Given the description of an element on the screen output the (x, y) to click on. 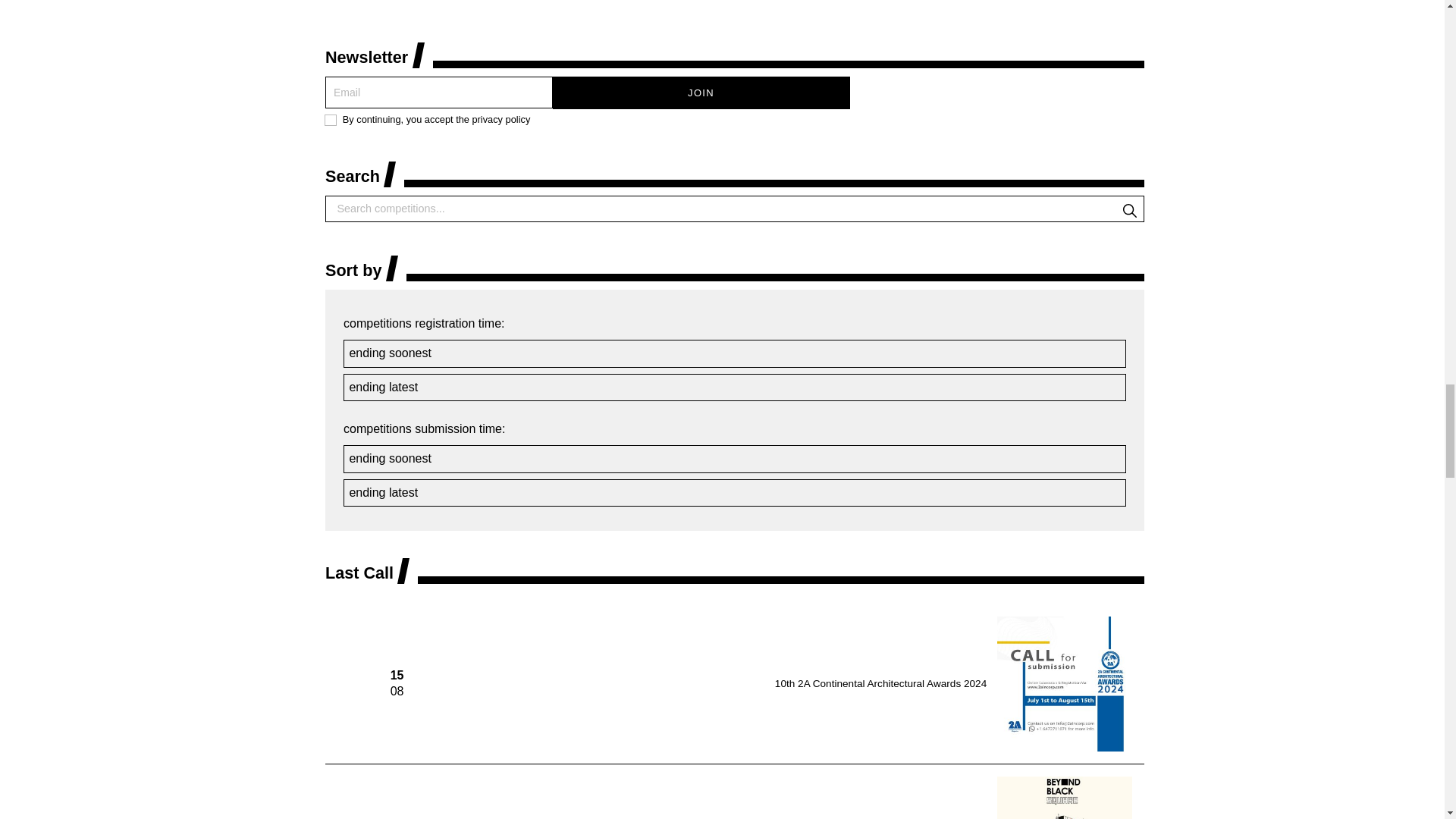
ending latest (734, 387)
Join (701, 92)
ending soonest (734, 352)
ending soonest (734, 458)
Join (701, 92)
